Given the description of an element on the screen output the (x, y) to click on. 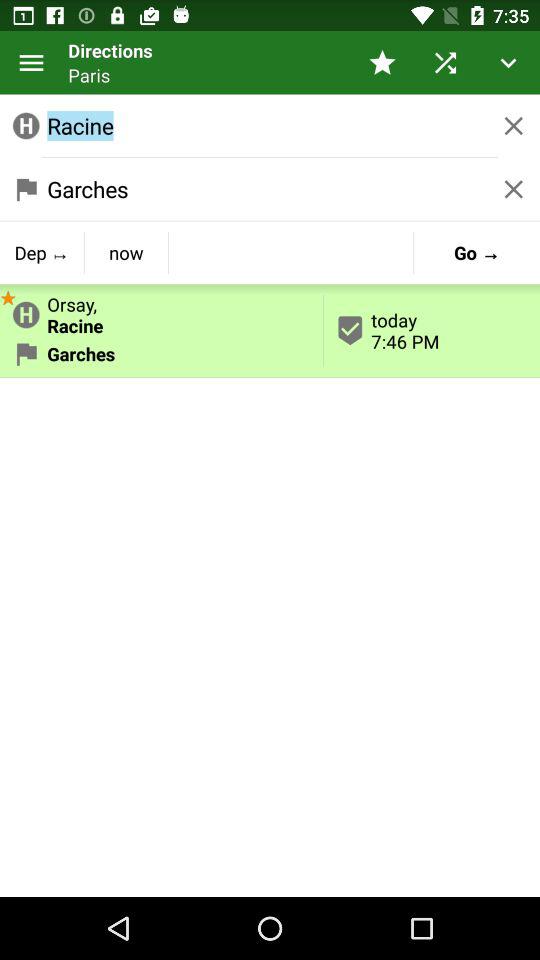
launch app next to orsay,
racine item (476, 252)
